Given the description of an element on the screen output the (x, y) to click on. 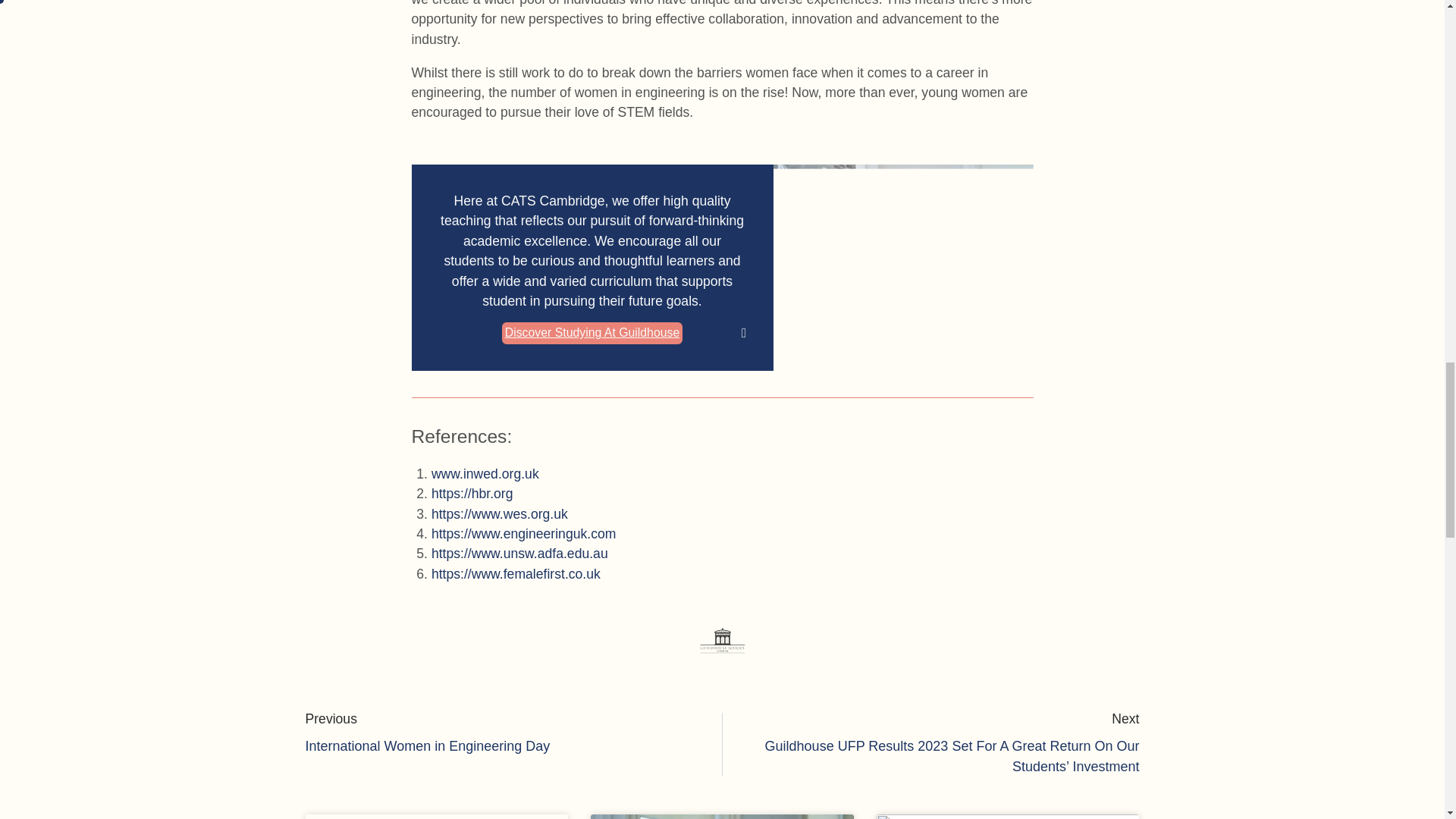
Discover Studying At Guildhouse (592, 332)
www.inwed.org.uk (507, 734)
